Given the description of an element on the screen output the (x, y) to click on. 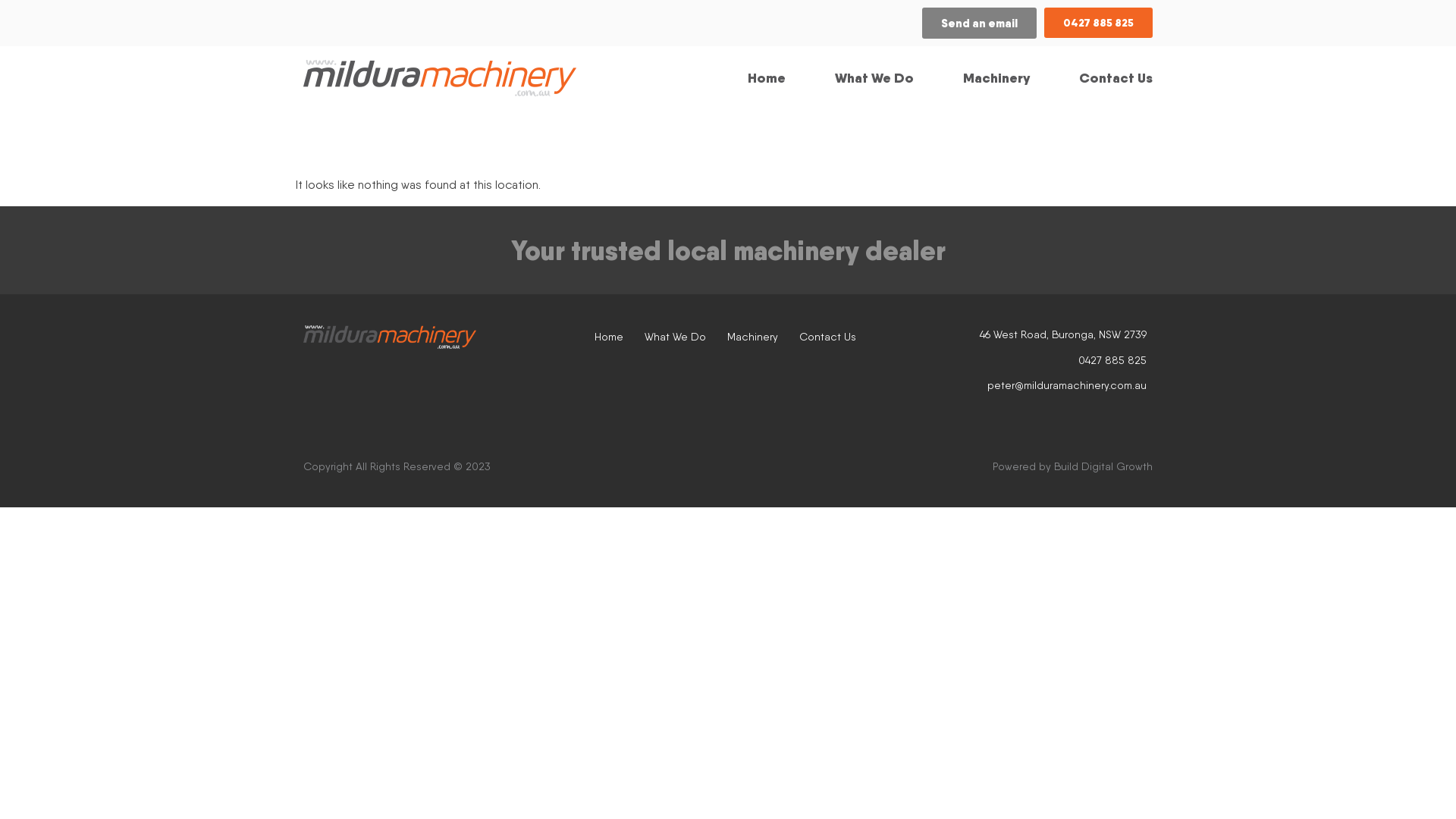
Home Element type: text (608, 336)
peter@milduramachinery.com.au Element type: text (1024, 385)
What We Do Element type: text (873, 77)
Machinery Element type: text (996, 77)
Powered by Build Digital Growth Element type: text (943, 466)
What We Do Element type: text (675, 336)
Contact Us Element type: text (827, 336)
Machinery Element type: text (752, 336)
Send an email Element type: text (979, 22)
0427 885 825 Element type: text (1098, 22)
Home Element type: text (766, 77)
Contact Us Element type: text (1115, 77)
46 West Road, Buronga, NSW 2739 Element type: text (1024, 334)
0427 885 825 Element type: text (1024, 360)
